Given the description of an element on the screen output the (x, y) to click on. 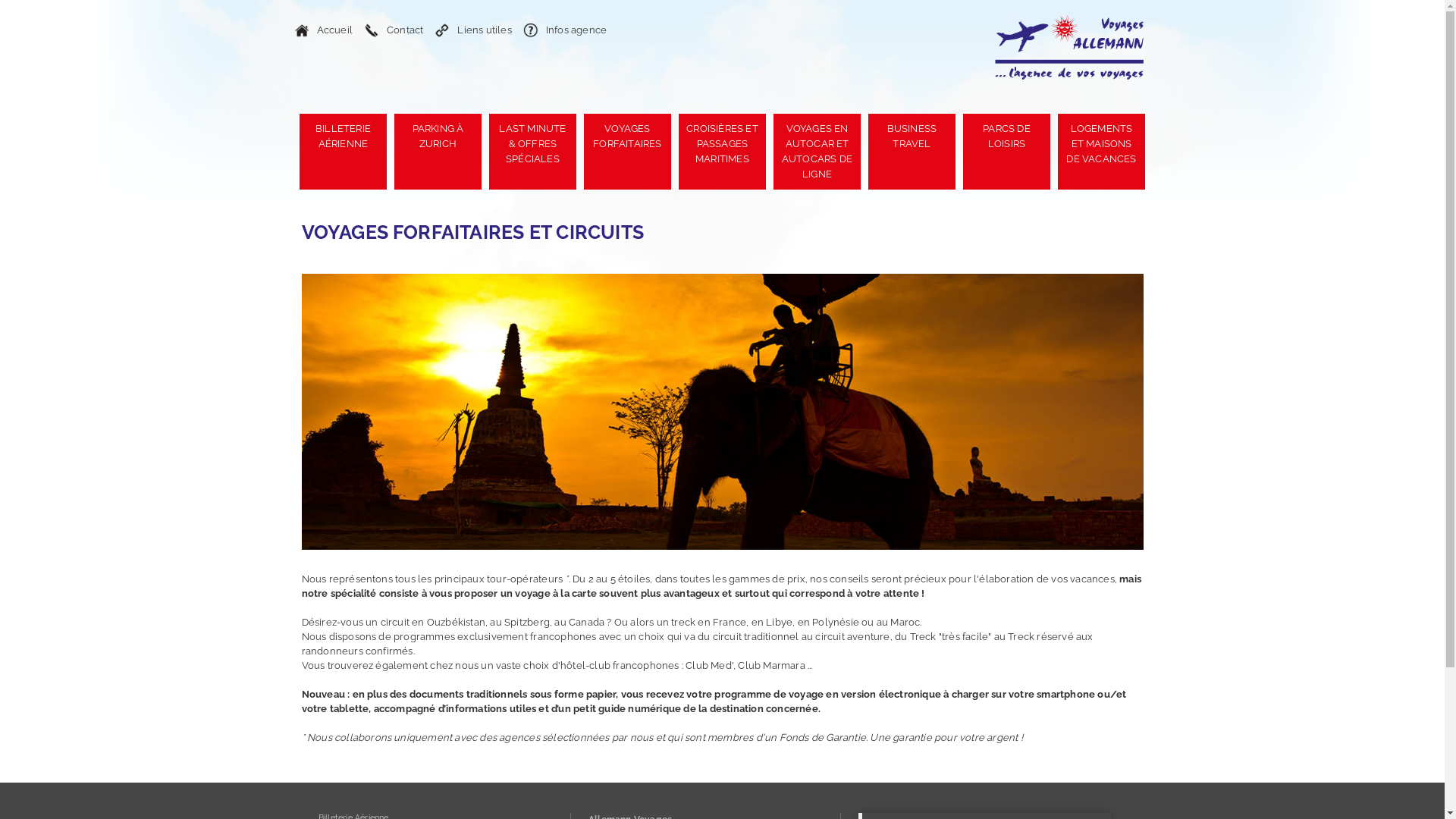
PARCS DE LOISIRS Element type: text (1006, 151)
Infos agence Element type: text (566, 30)
Liens utiles Element type: text (474, 30)
Accueil Element type: text (324, 30)
Contact Element type: text (395, 30)
VOYAGES EN AUTOCAR ET AUTOCARS DE LIGNE Element type: text (816, 151)
LOGEMENTS ET MAISONS DE VACANCES Element type: text (1101, 151)
BUSINESS TRAVEL Element type: text (911, 151)
VOYAGES FORFAITAIRES Element type: text (627, 151)
